Given the description of an element on the screen output the (x, y) to click on. 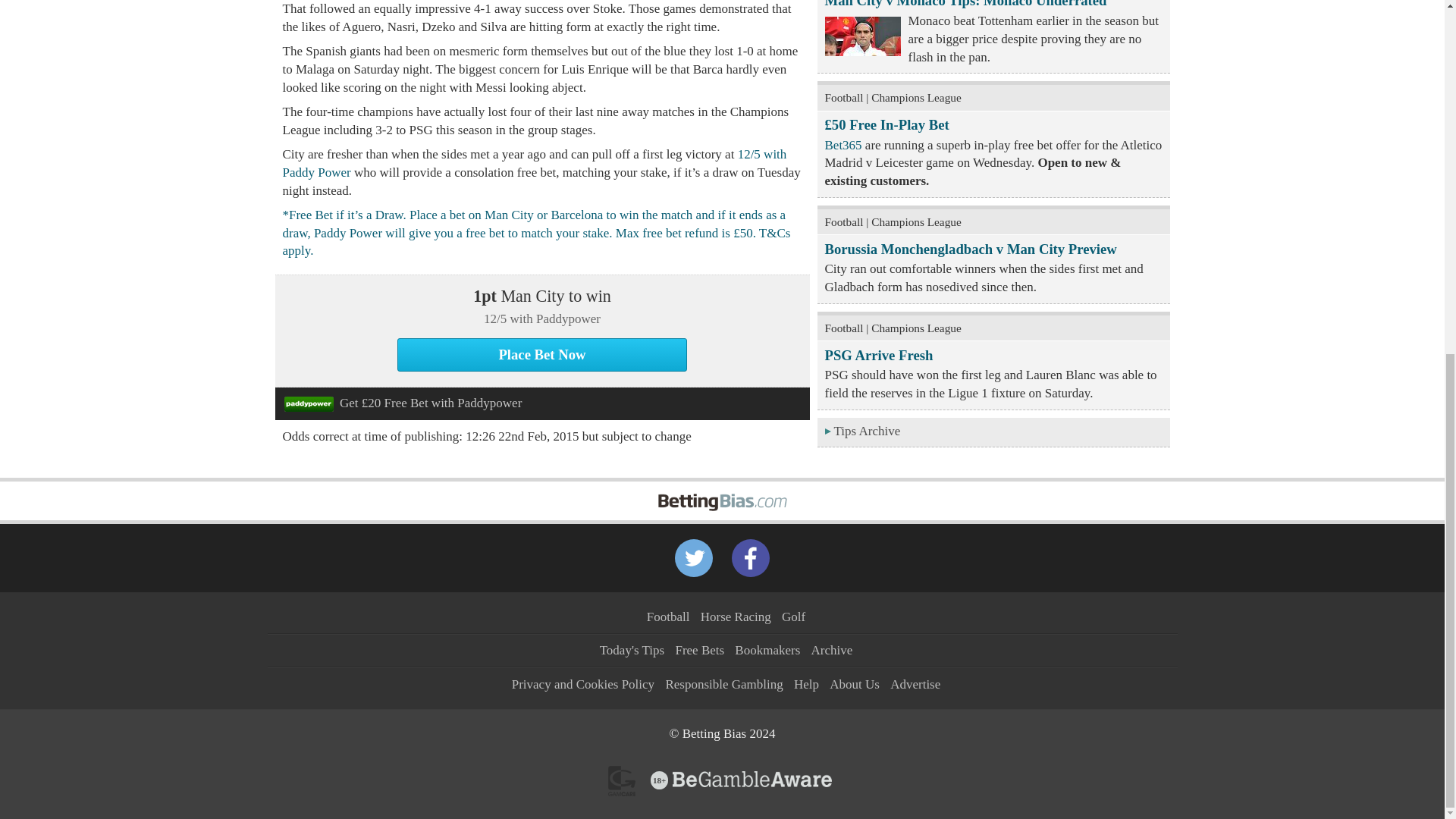
Place Bet Now (542, 354)
Tips Archive (993, 432)
Twitter (694, 557)
PSG Arrive Fresh (879, 355)
Today's Tips (632, 649)
Betting Bias (722, 490)
GamCare (621, 780)
Facebook (751, 557)
Borussia Monchengladbach v Man City Preview (970, 248)
Golf (793, 616)
Horse Racing (735, 616)
Football (668, 616)
Man City v Monaco Tips: Monaco Underrated (965, 4)
Bet365 (843, 145)
